Given the description of an element on the screen output the (x, y) to click on. 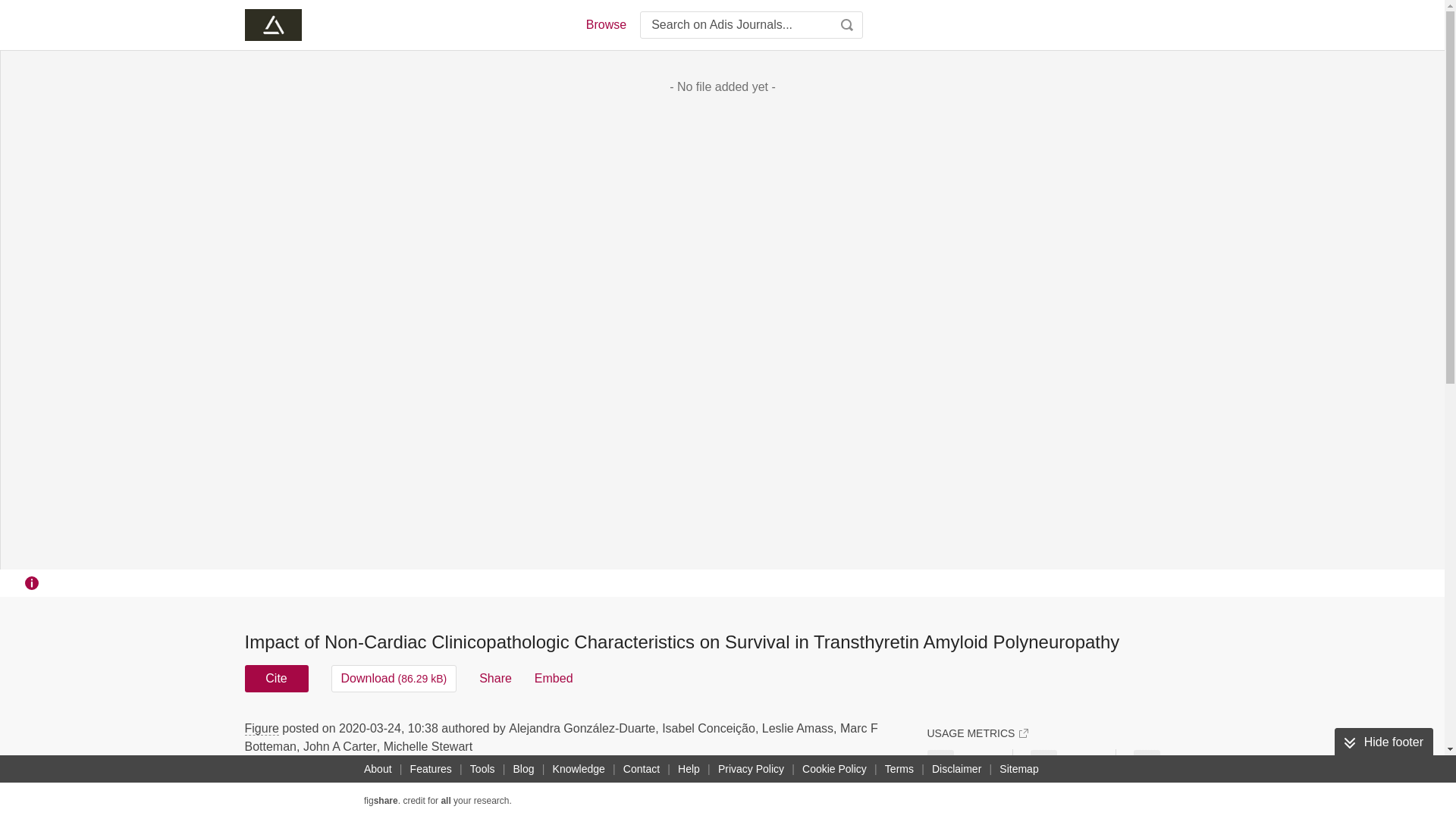
Cite (275, 678)
Blog (523, 769)
Hide footer (1383, 742)
About (377, 769)
Browse (605, 24)
Tools (482, 769)
Terms (899, 769)
USAGE METRICS (976, 732)
Contact (640, 769)
Cookie Policy (833, 769)
